Given the description of an element on the screen output the (x, y) to click on. 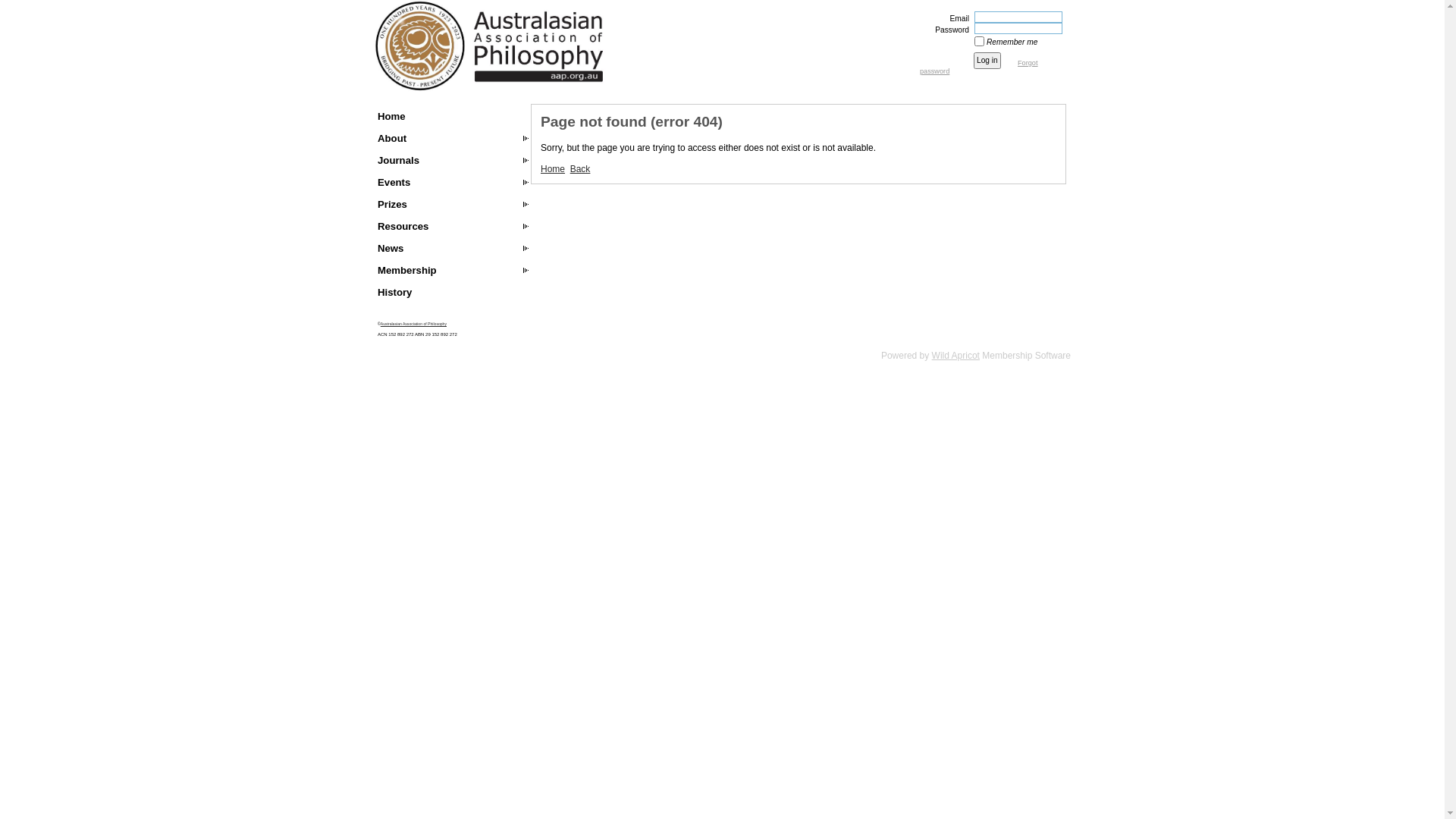
Home Element type: text (451, 115)
News Element type: text (451, 247)
Back Element type: text (580, 168)
About Element type: text (451, 137)
Forgot password Element type: text (978, 67)
Events Element type: text (451, 181)
Wild Apricot Element type: text (955, 355)
Resources Element type: text (451, 225)
Log in Element type: text (987, 60)
Australasian Association of Philosophy Element type: text (413, 323)
Prizes Element type: text (451, 203)
Home Element type: text (552, 168)
Membership Element type: text (451, 269)
History Element type: text (451, 291)
Journals Element type: text (451, 159)
